Given the description of an element on the screen output the (x, y) to click on. 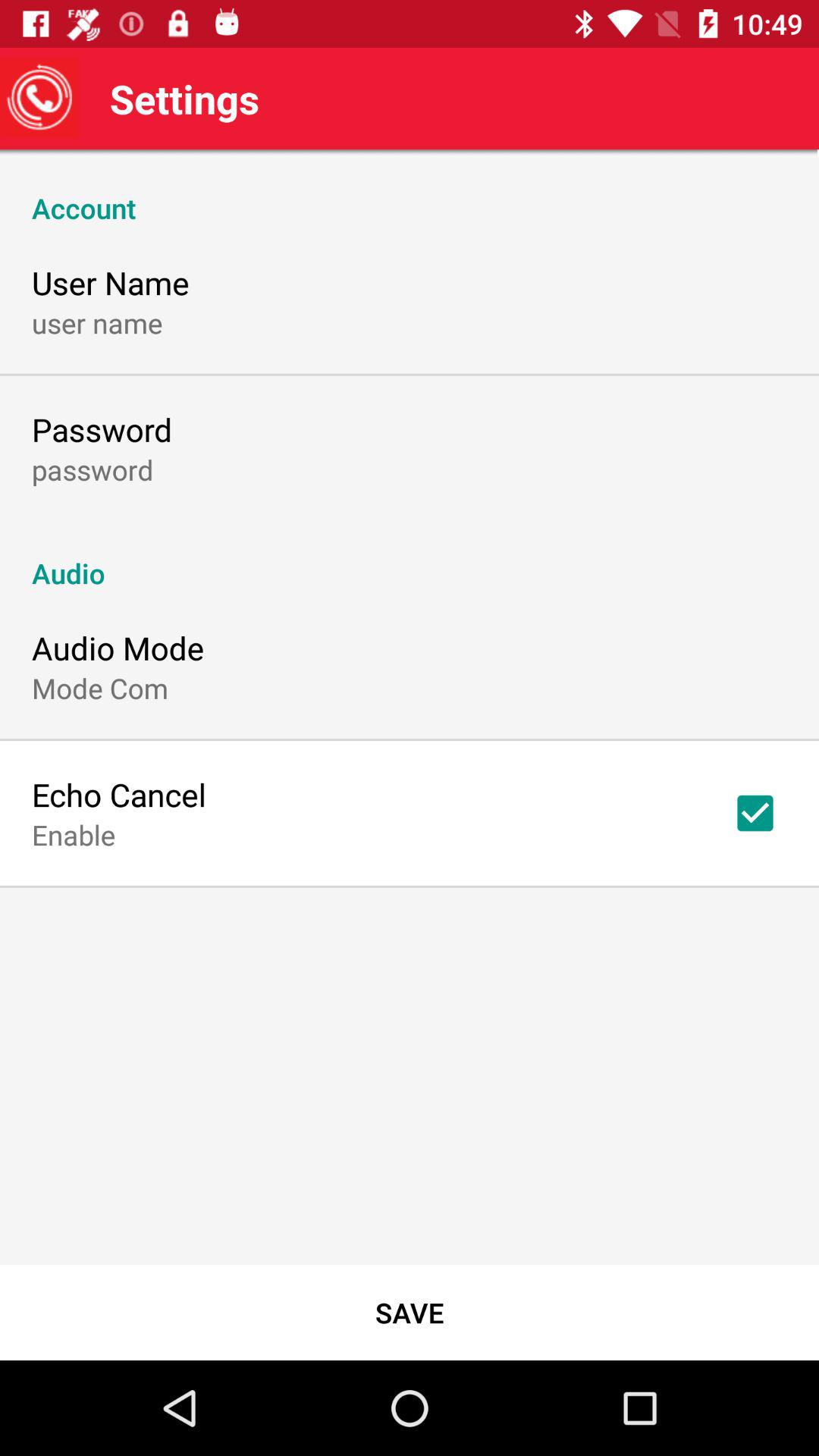
turn off account item (409, 191)
